Given the description of an element on the screen output the (x, y) to click on. 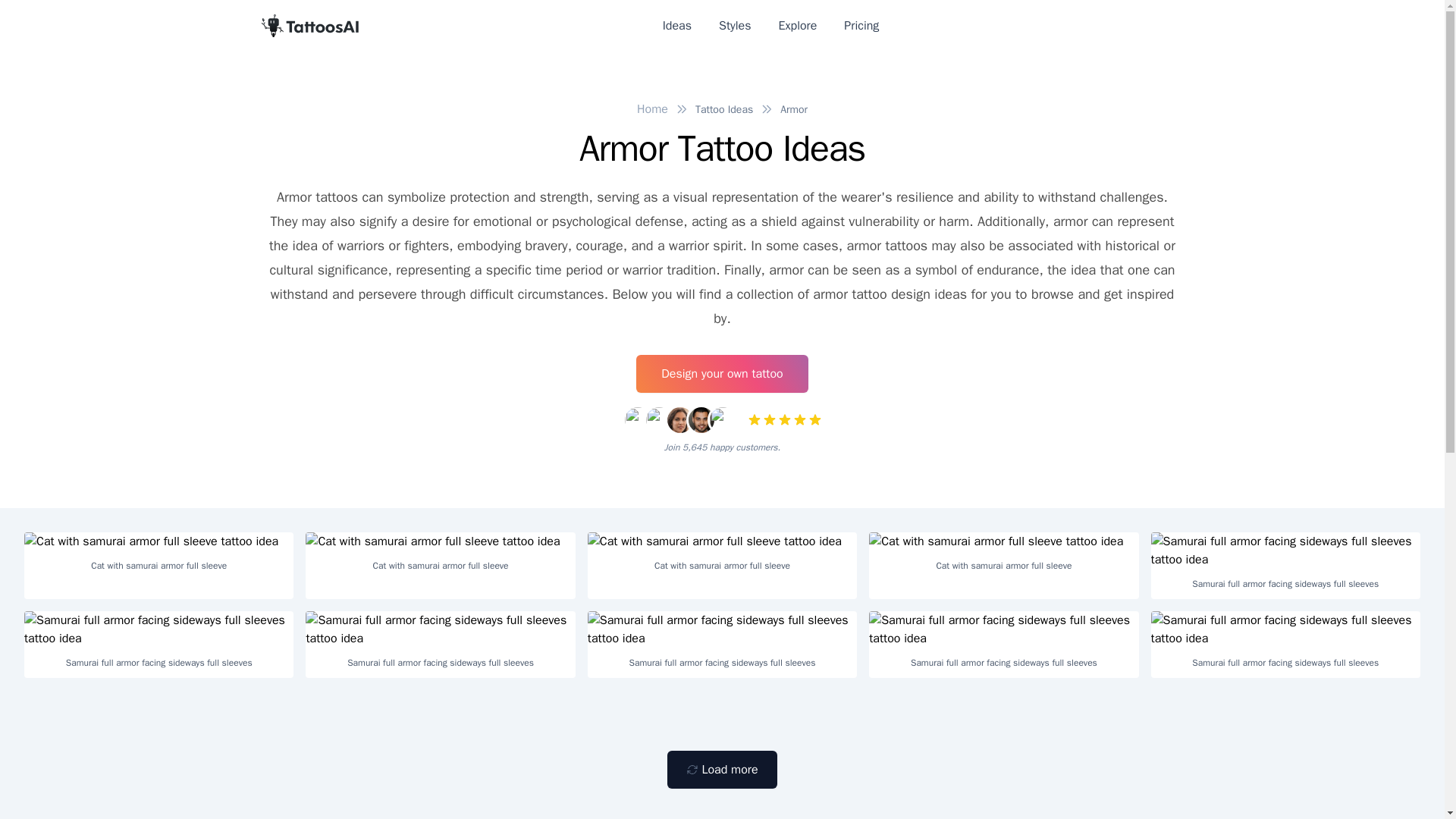
Cat with samurai armor full sleeve (159, 556)
Cat with samurai armor full sleeve (440, 556)
Cat with samurai armor full sleeve tattoo idea (722, 541)
Samurai full armor facing sideways full sleeves (159, 644)
Ideas (676, 25)
Samurai full armor facing sideways full sleeves tattoo idea (1286, 628)
Cat with samurai armor full sleeve tattoo idea (1003, 541)
Load more (721, 769)
Tattoo Ideas (724, 108)
Samurai full armor facing sideways full sleeves tattoo idea (722, 628)
Samurai full armor facing sideways full sleeves (1003, 644)
Cat with samurai armor full sleeve tattoo idea (440, 541)
Samurai full armor facing sideways full sleeves (722, 644)
Samurai full armor facing sideways full sleeves (1286, 644)
Samurai full armor facing sideways full sleeves tattoo idea (440, 628)
